Given the description of an element on the screen output the (x, y) to click on. 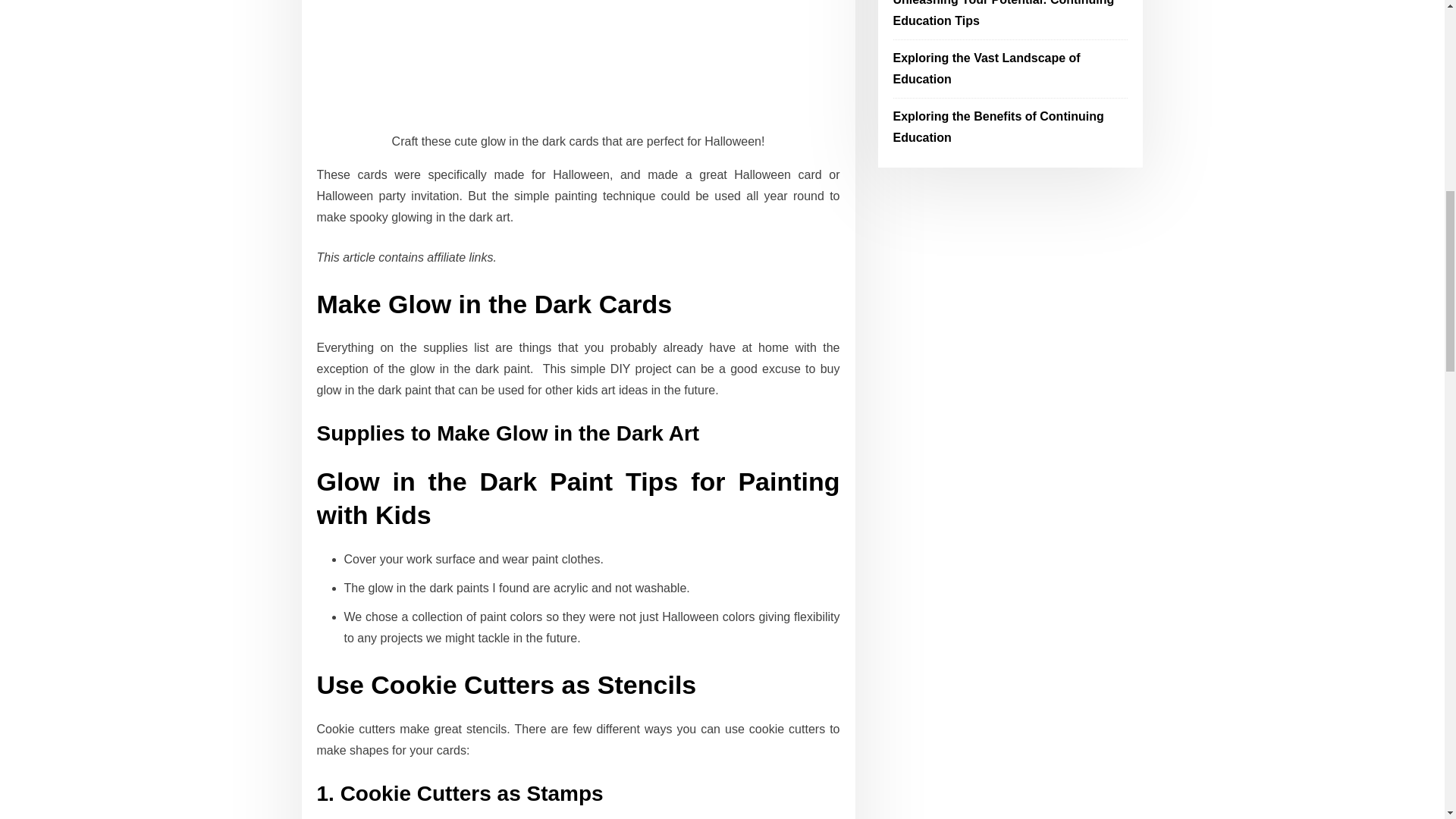
Exploring the Vast Landscape of Education (986, 68)
Unleashing Your Potential: Continuing Education Tips (1004, 13)
Exploring the Benefits of Continuing Education (998, 126)
